Given the description of an element on the screen output the (x, y) to click on. 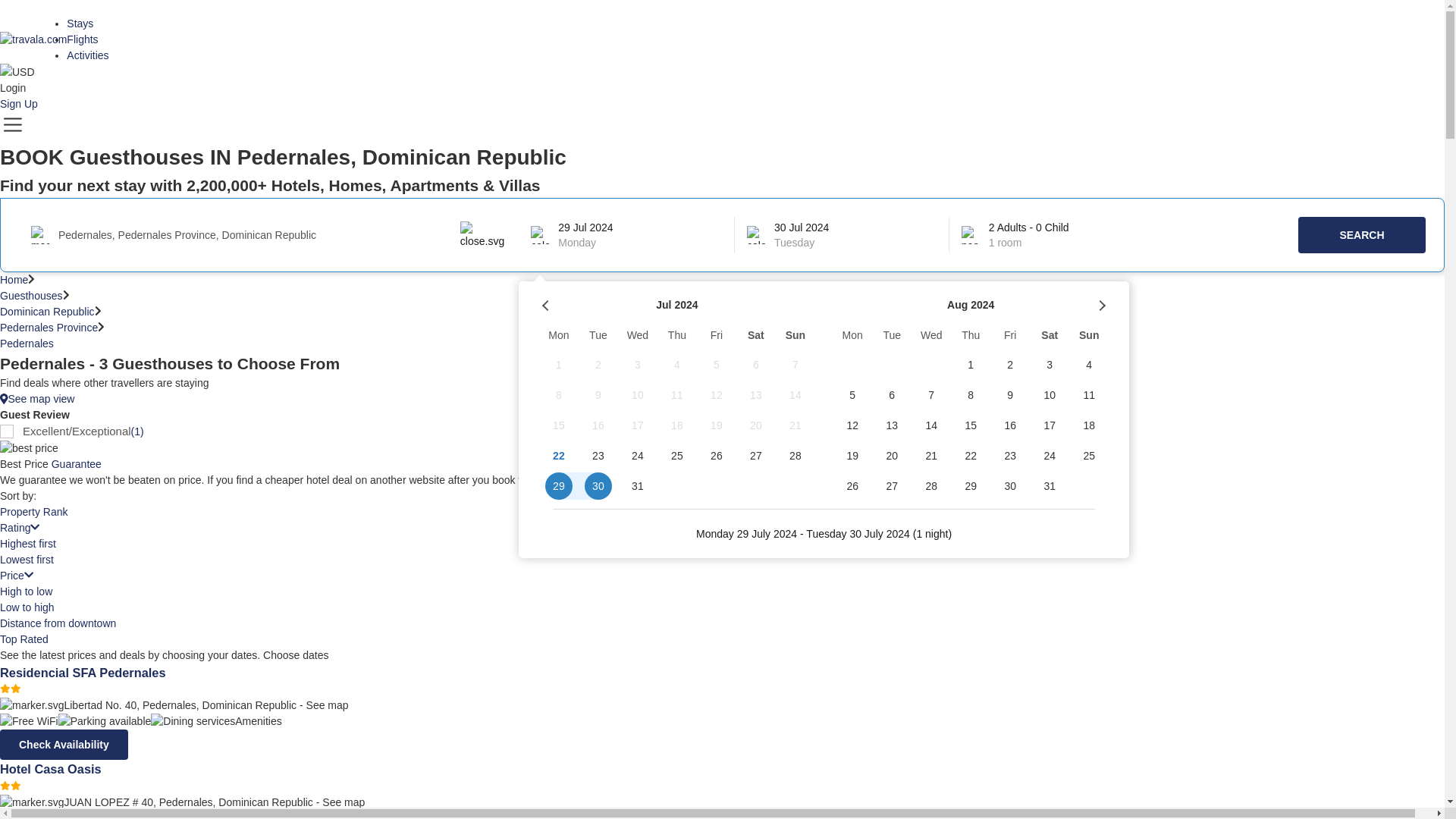
6 (756, 364)
Parking available (104, 721)
14 (795, 395)
Pedernales, Pedernales Province, Dominican Republic (259, 235)
15 (558, 425)
29 (558, 485)
18 (677, 425)
5 (716, 364)
10 (637, 395)
Flights (81, 39)
13 (756, 395)
21 (795, 425)
2 (597, 364)
12 (716, 395)
1 (558, 364)
